Given the description of an element on the screen output the (x, y) to click on. 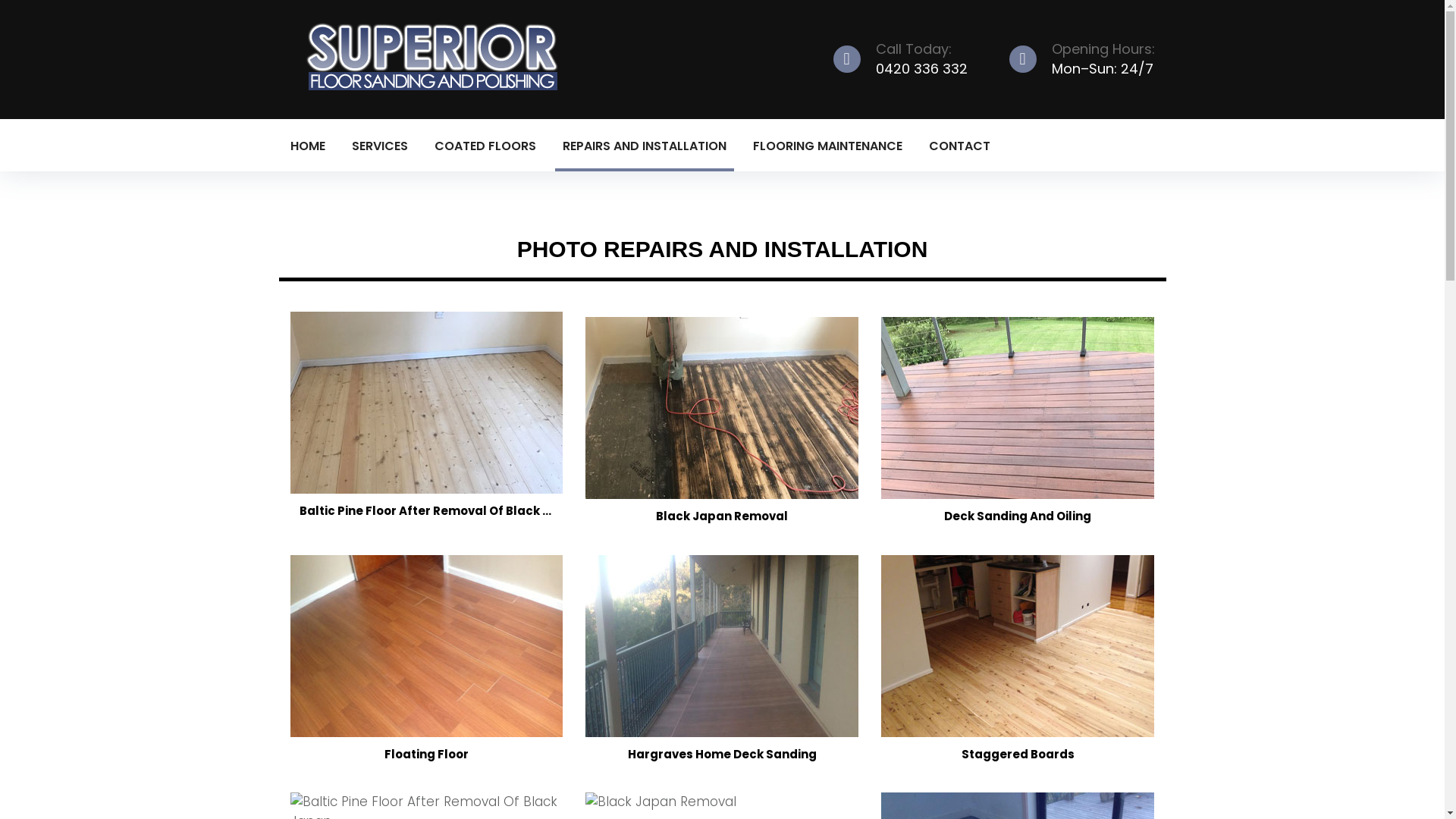
HOME Element type: text (307, 145)
FLOORING MAINTENANCE Element type: text (826, 145)
COATED FLOORS Element type: text (484, 145)
CONTACT Element type: text (958, 145)
0420 336 332 Element type: text (920, 68)
SERVICES Element type: text (379, 145)
REPAIRS AND INSTALLATION Element type: text (644, 145)
